Given the description of an element on the screen output the (x, y) to click on. 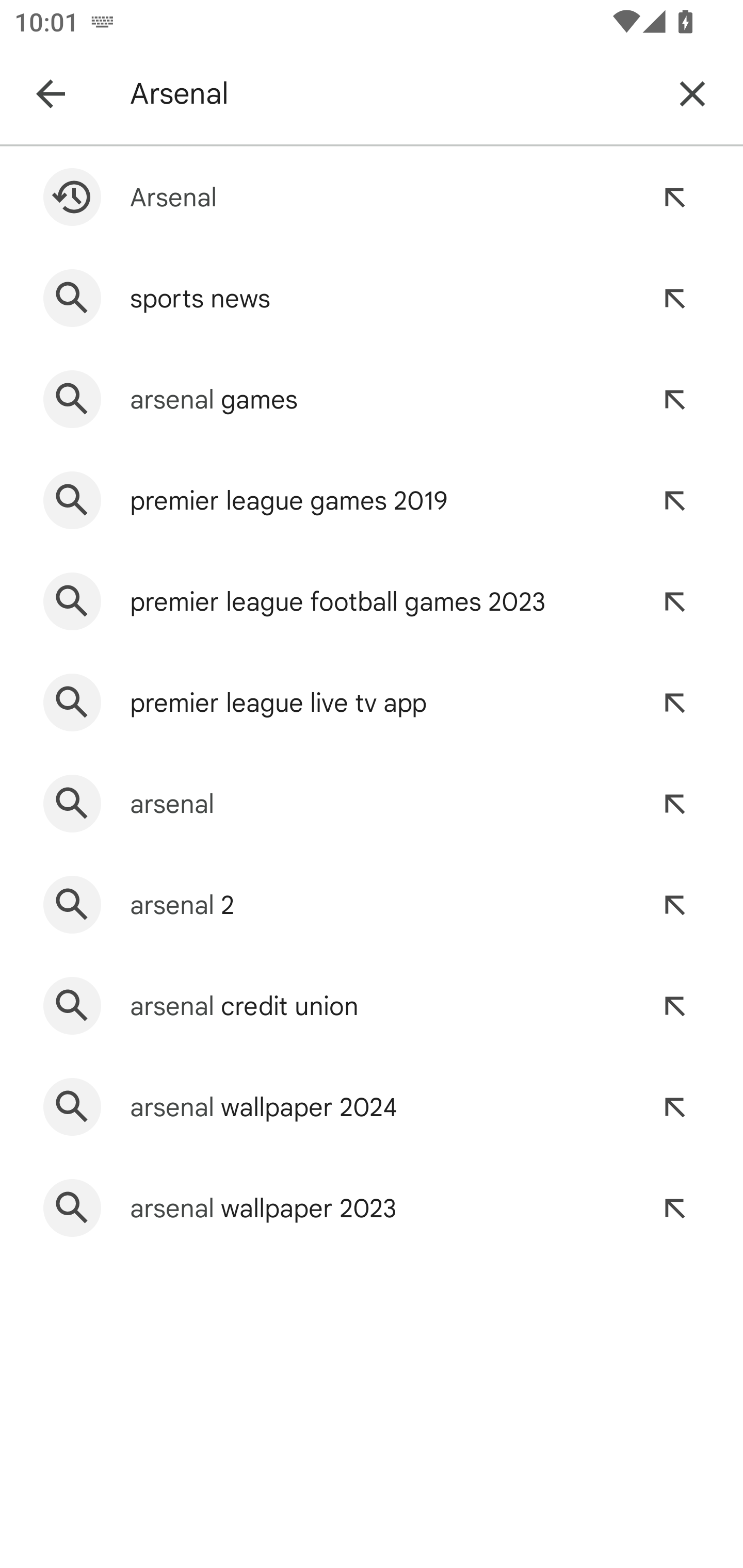
Navigate up (50, 93)
Arsenal (389, 93)
Clear (692, 93)
Search for "Arsenal"  Refine search to "Arsenal" (371, 196)
Refine search to "Arsenal" (673, 196)
Refine search to "sports news" (673, 297)
Refine search to "arsenal games" (673, 399)
Refine search to "premier league games 2019" (673, 500)
Refine search to "premier league live tv app" (673, 702)
Search for "arsenal"  Refine search to "arsenal" (371, 803)
Refine search to "arsenal" (673, 803)
Refine search to "arsenal 2" (673, 904)
Refine search to "arsenal credit union" (673, 1005)
Refine search to "arsenal wallpaper 2024" (673, 1106)
Refine search to "arsenal wallpaper 2023" (673, 1208)
